Given the description of an element on the screen output the (x, y) to click on. 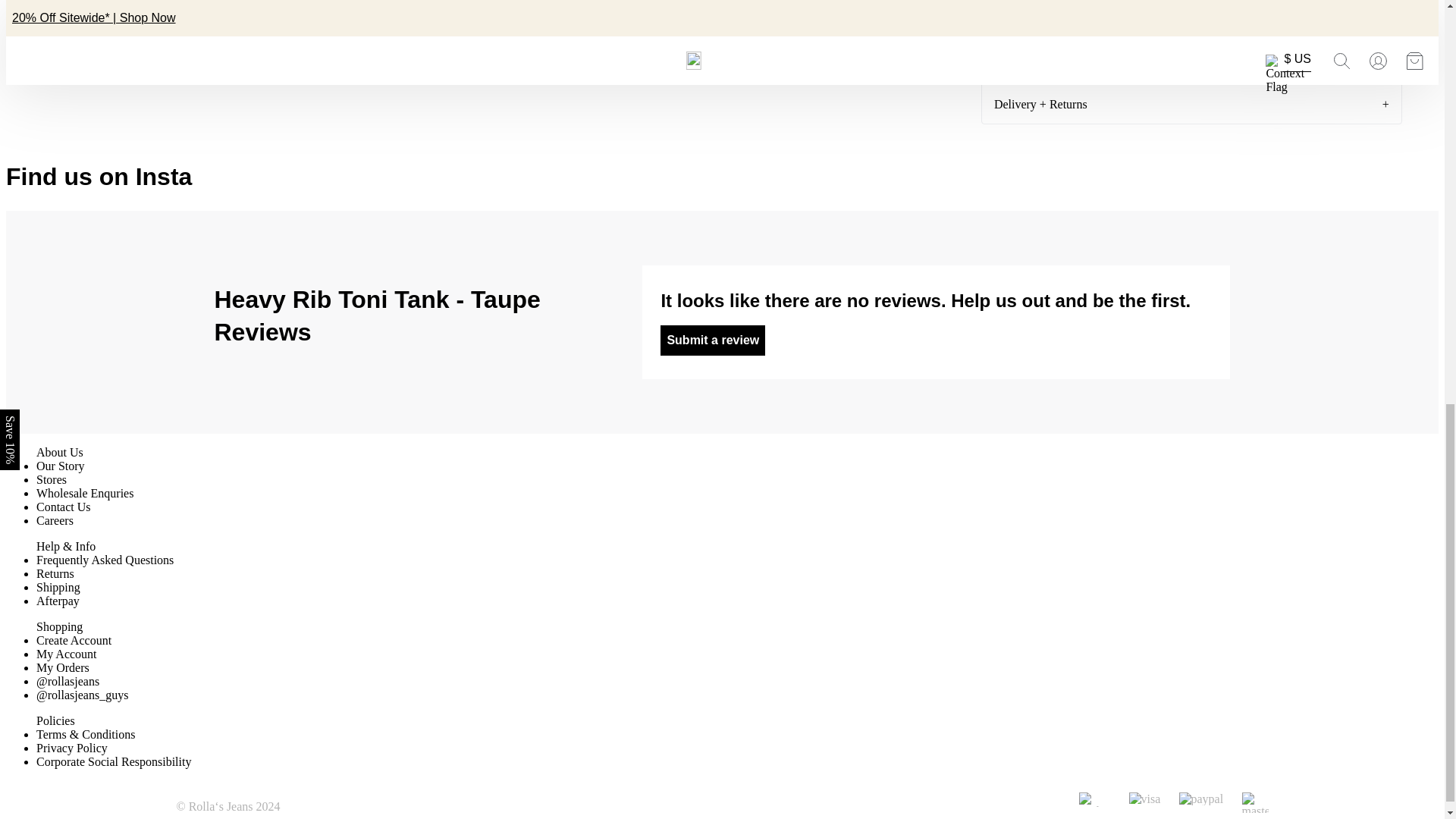
My Account (66, 653)
Stores (51, 479)
My Orders (62, 667)
Contact Us (63, 506)
Wholesale Enquries (84, 492)
Create Account (74, 640)
Returns (55, 573)
Create Account (74, 640)
Wholesale Enquries (84, 492)
Shipping (58, 586)
